Given the description of an element on the screen output the (x, y) to click on. 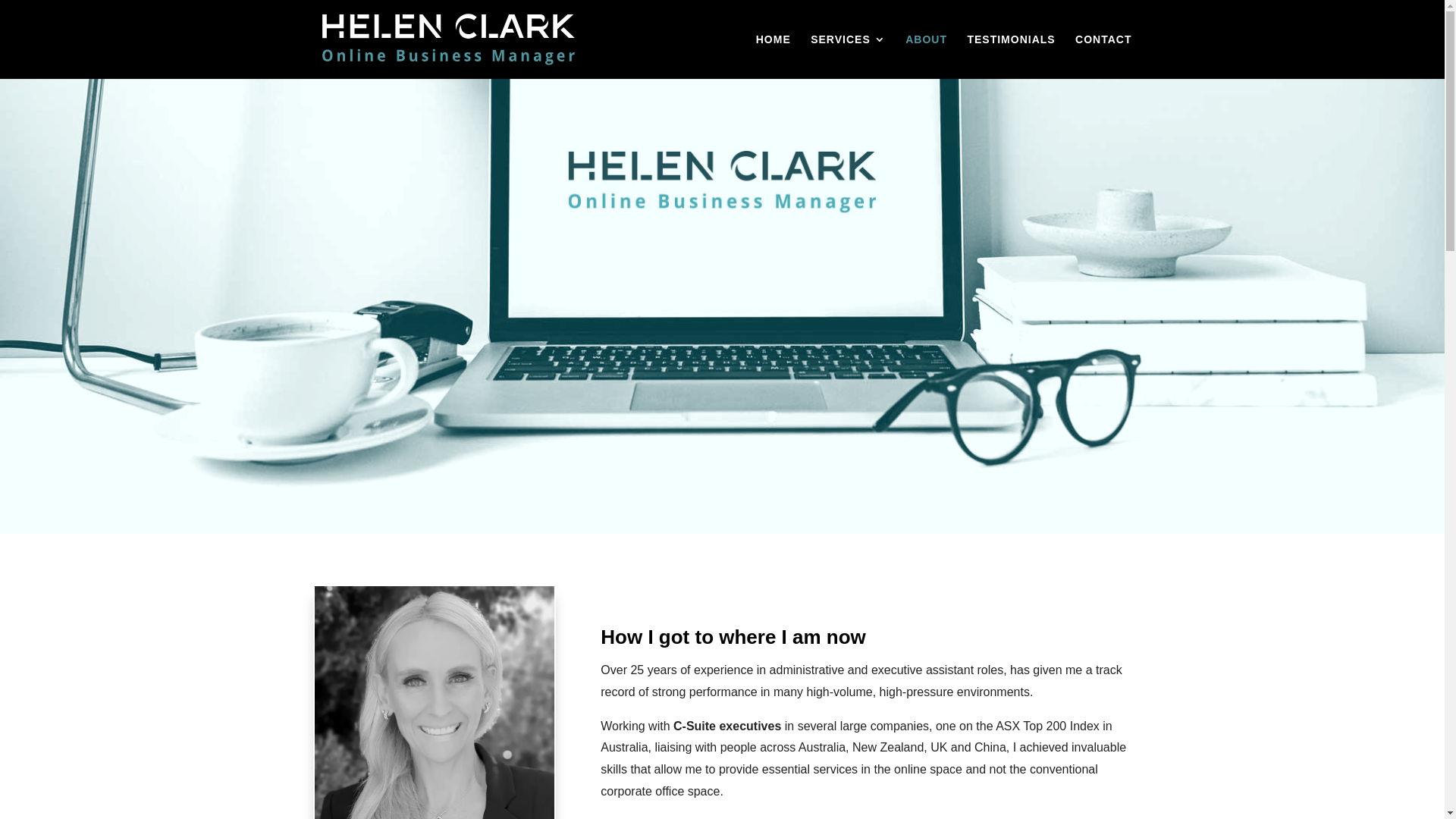
TESTIMONIALS Element type: text (1010, 56)
ABOUT Element type: text (926, 56)
CONTACT Element type: text (1103, 56)
HOME Element type: text (773, 56)
SERVICES Element type: text (847, 56)
